Given the description of an element on the screen output the (x, y) to click on. 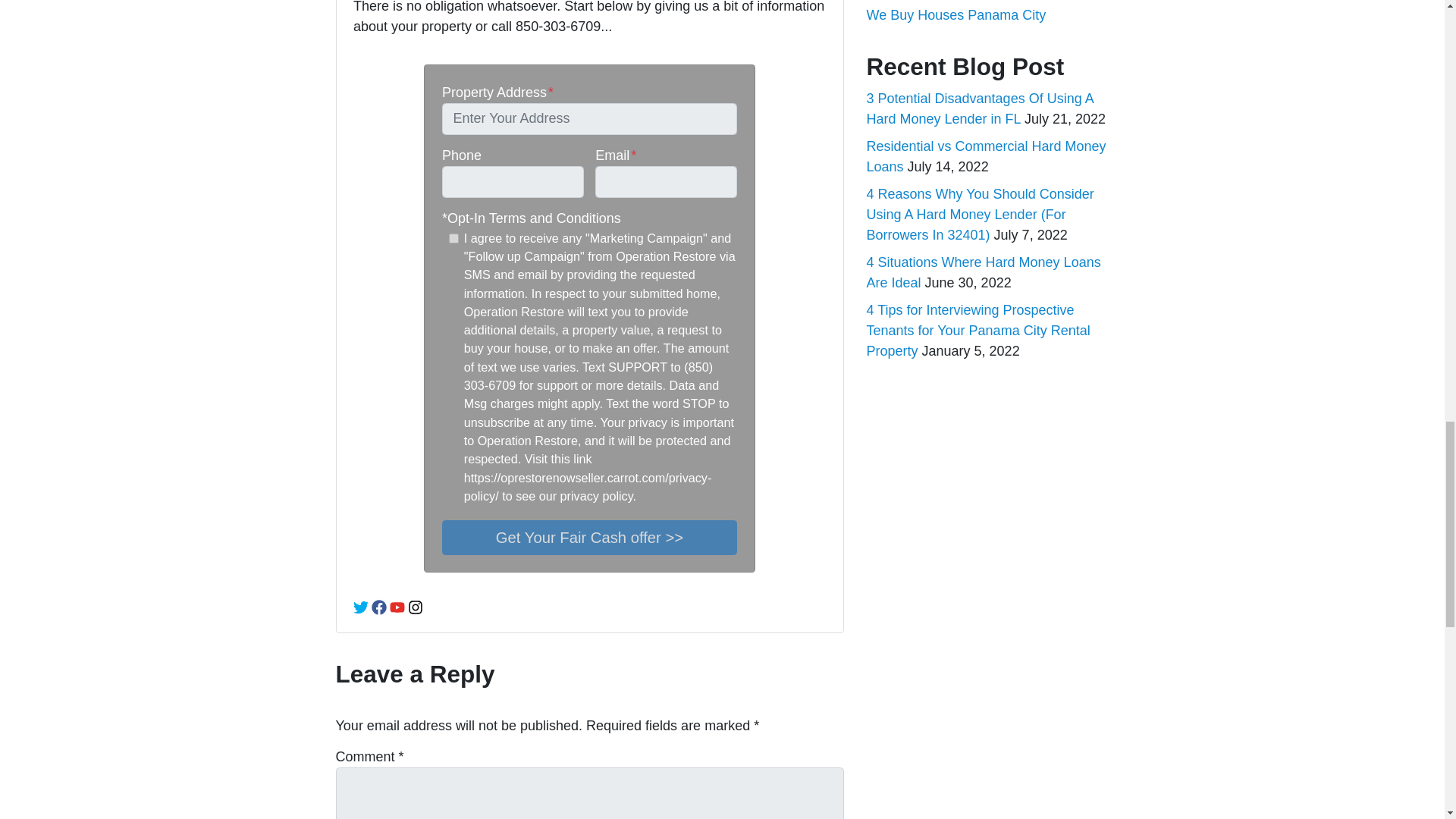
YouTube (397, 607)
Facebook (379, 607)
Residential vs Commercial Hard Money Loans (985, 156)
Twitter (360, 607)
We Buy Houses Panama City (955, 14)
Instagram (415, 607)
3 Potential Disadvantages Of Using A Hard Money Lender in FL (979, 108)
